Given the description of an element on the screen output the (x, y) to click on. 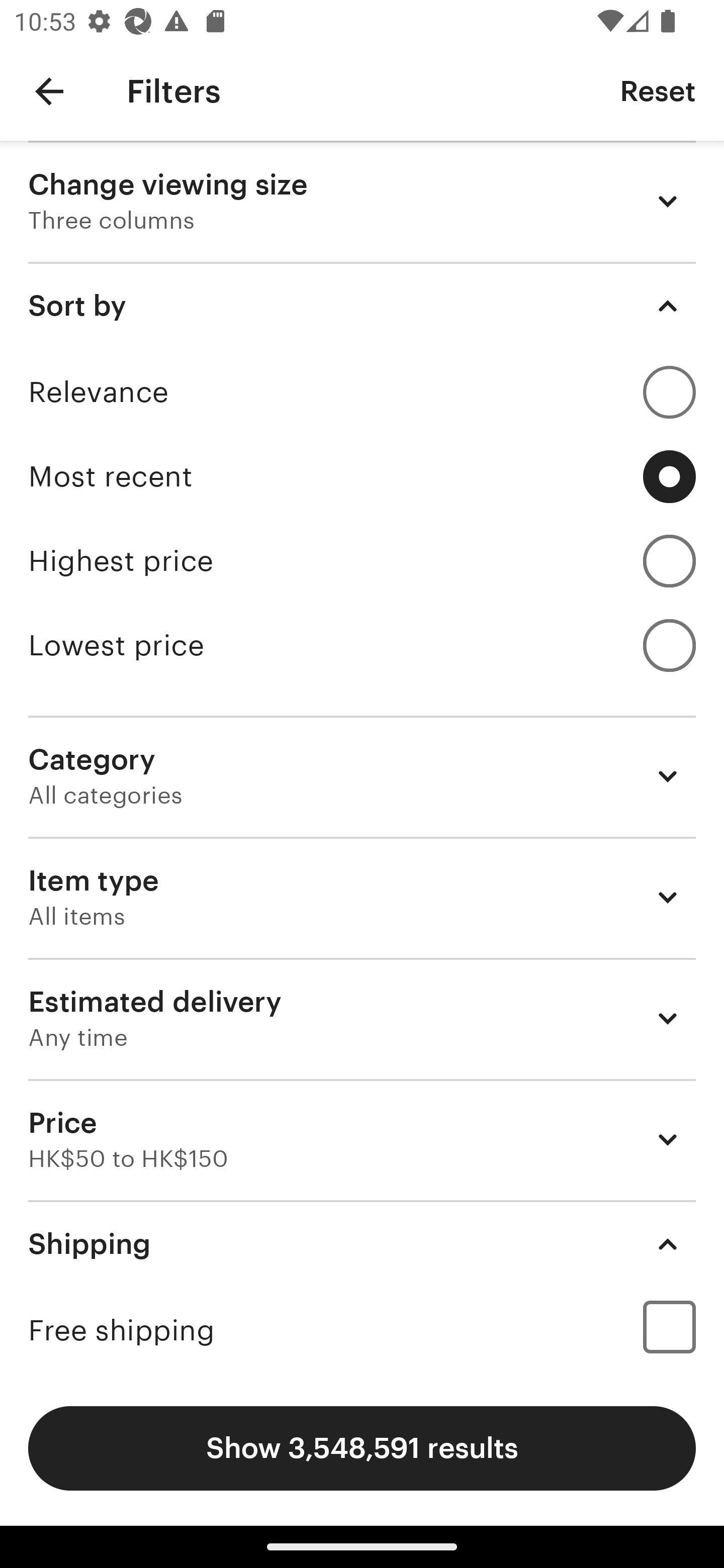
Navigate up (49, 91)
Reset (657, 90)
Change viewing size Three columns (362, 201)
Sort by (362, 305)
Relevance (362, 391)
Most recent (362, 476)
Highest price (362, 561)
Lowest price (362, 644)
Category All categories (362, 776)
Item type All items (362, 897)
Estimated delivery Any time (362, 1018)
Price HK$50 to HK$150 (362, 1138)
Shipping (362, 1243)
Free shipping (362, 1329)
Show 3,548,591 results Show 3,548,579 results (361, 1448)
